Given the description of an element on the screen output the (x, y) to click on. 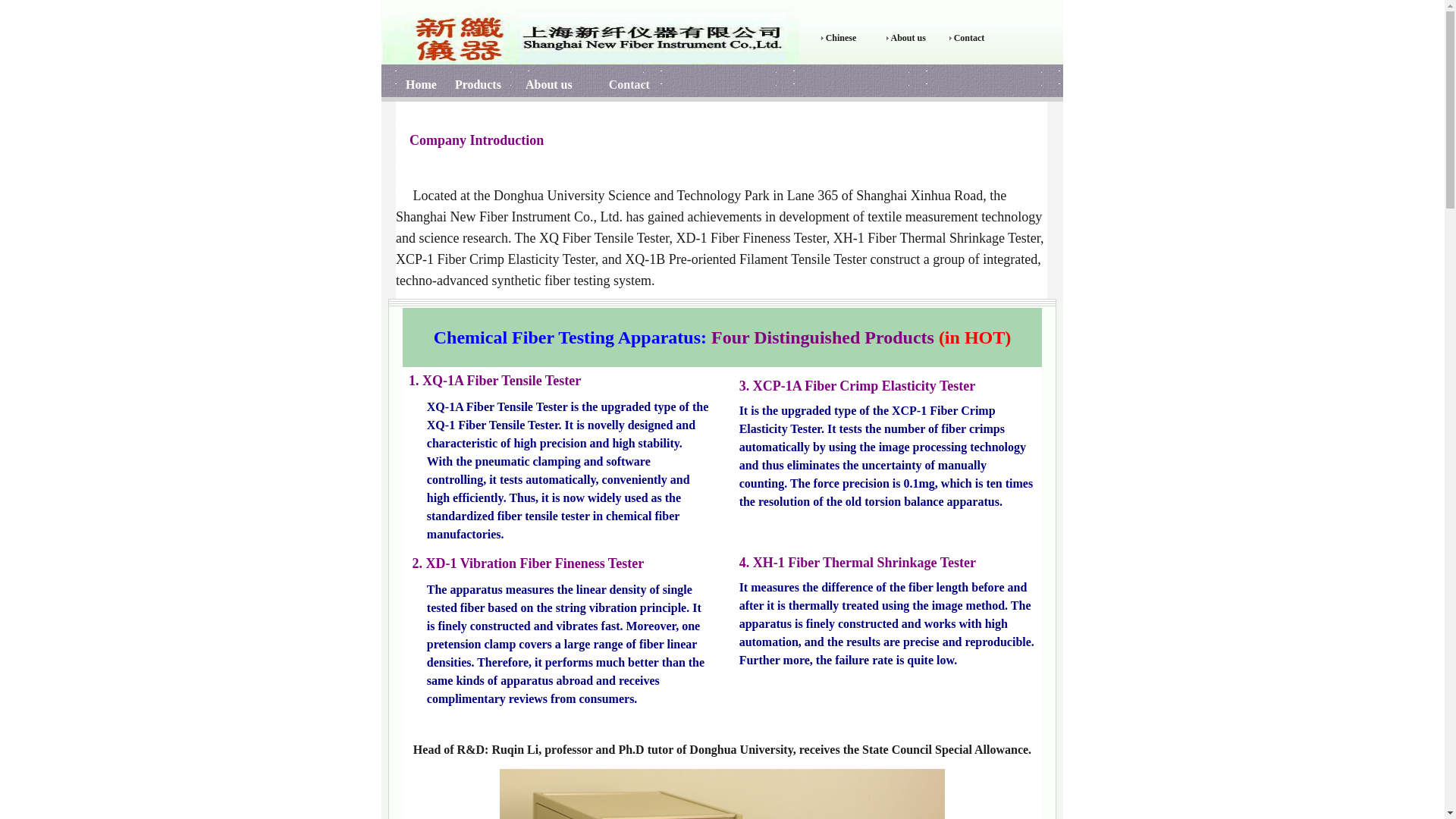
About us (906, 36)
Chinese (841, 36)
Products (475, 85)
Home (421, 85)
About us (548, 85)
